Given the description of an element on the screen output the (x, y) to click on. 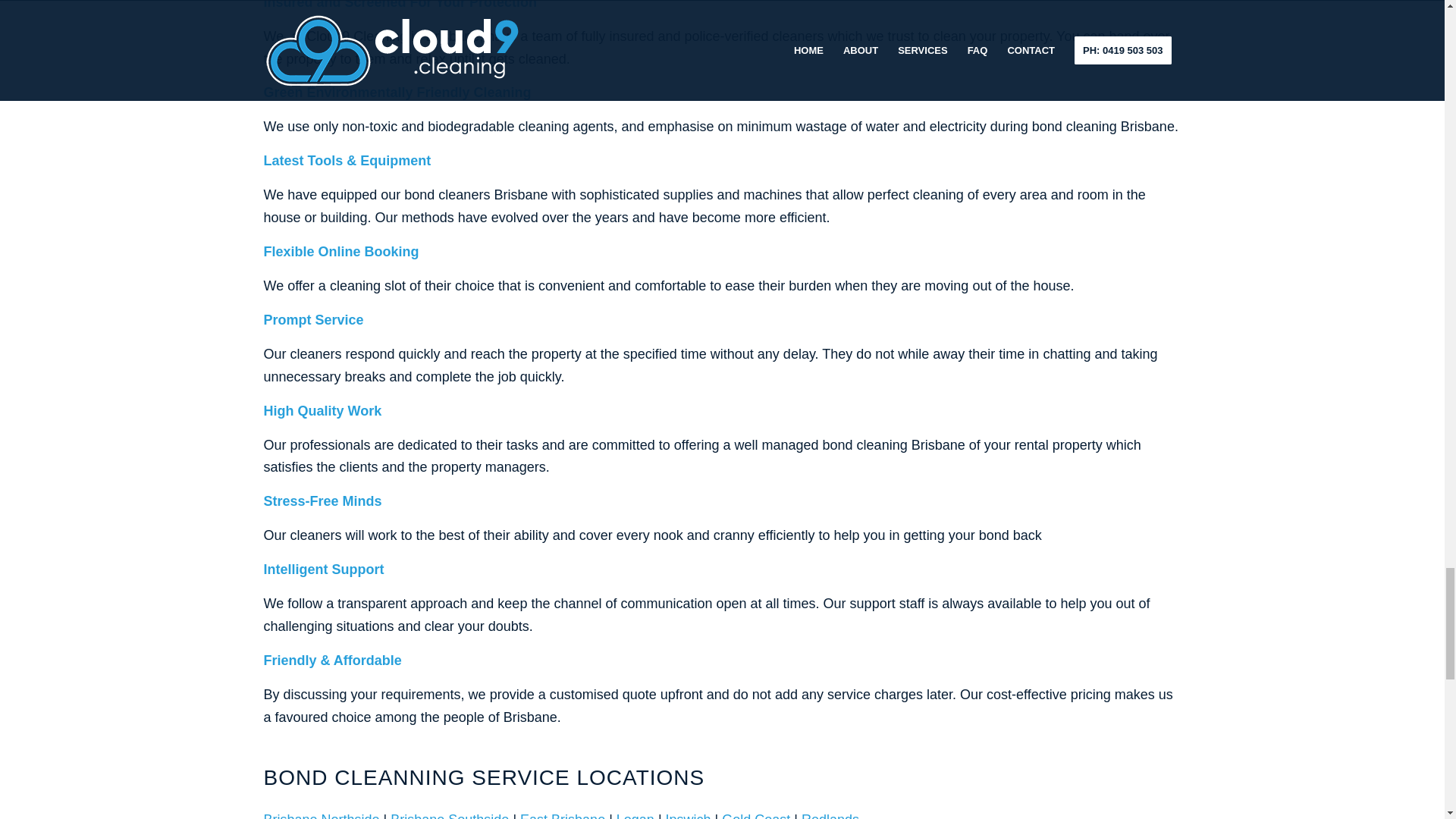
Brisbane Southside (449, 815)
Logan (634, 815)
Gold Coast (756, 815)
Ipswich (688, 815)
Brisbane Northside (321, 815)
Redlands (830, 815)
East Brisbane (562, 815)
